Given the description of an element on the screen output the (x, y) to click on. 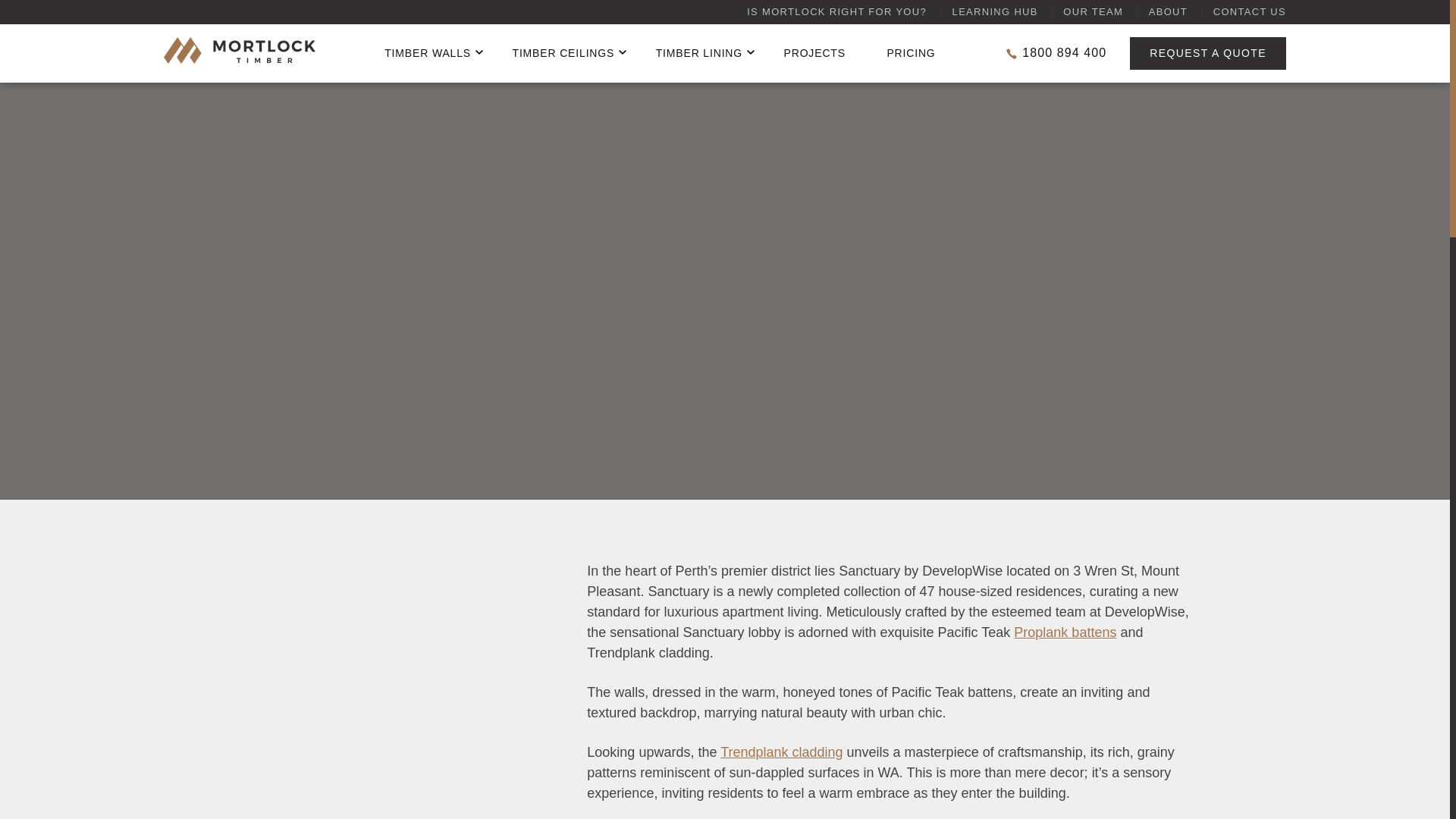
PROJECTS (814, 53)
1800 894 400 (1055, 51)
TIMBER WALLS (427, 53)
CONTACT US (1248, 12)
IS MORTLOCK RIGHT FOR YOU? (836, 12)
TIMBER LINING (699, 53)
LEARNING HUB (995, 12)
ABOUT (1168, 12)
REQUEST A QUOTE (1207, 52)
Trendplank cladding (781, 752)
Proplank battens (1064, 631)
TIMBER CEILINGS (563, 53)
OUR TEAM (1092, 12)
